Given the description of an element on the screen output the (x, y) to click on. 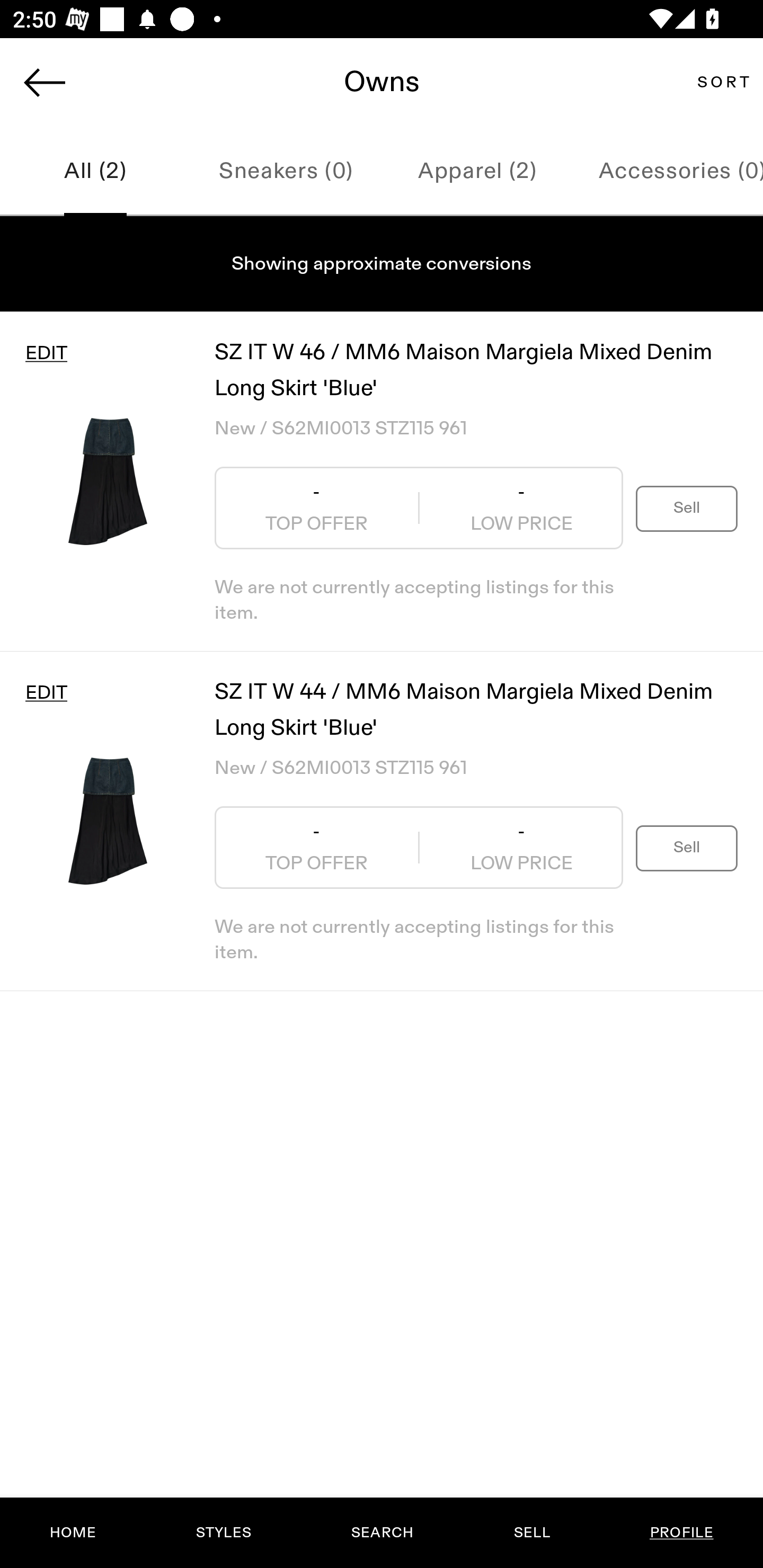
SORT (722, 81)
Sneakers (0) (285, 171)
Apparel (2) (476, 171)
Accessories (0) (667, 171)
EDIT (46, 352)
- - TOP OFFER LOW PRICE (418, 507)
Sell (686, 507)
EDIT (46, 692)
- - TOP OFFER LOW PRICE (418, 847)
Sell (686, 847)
HOME (72, 1532)
STYLES (222, 1532)
SEARCH (381, 1532)
SELL (531, 1532)
PROFILE (681, 1532)
